Given the description of an element on the screen output the (x, y) to click on. 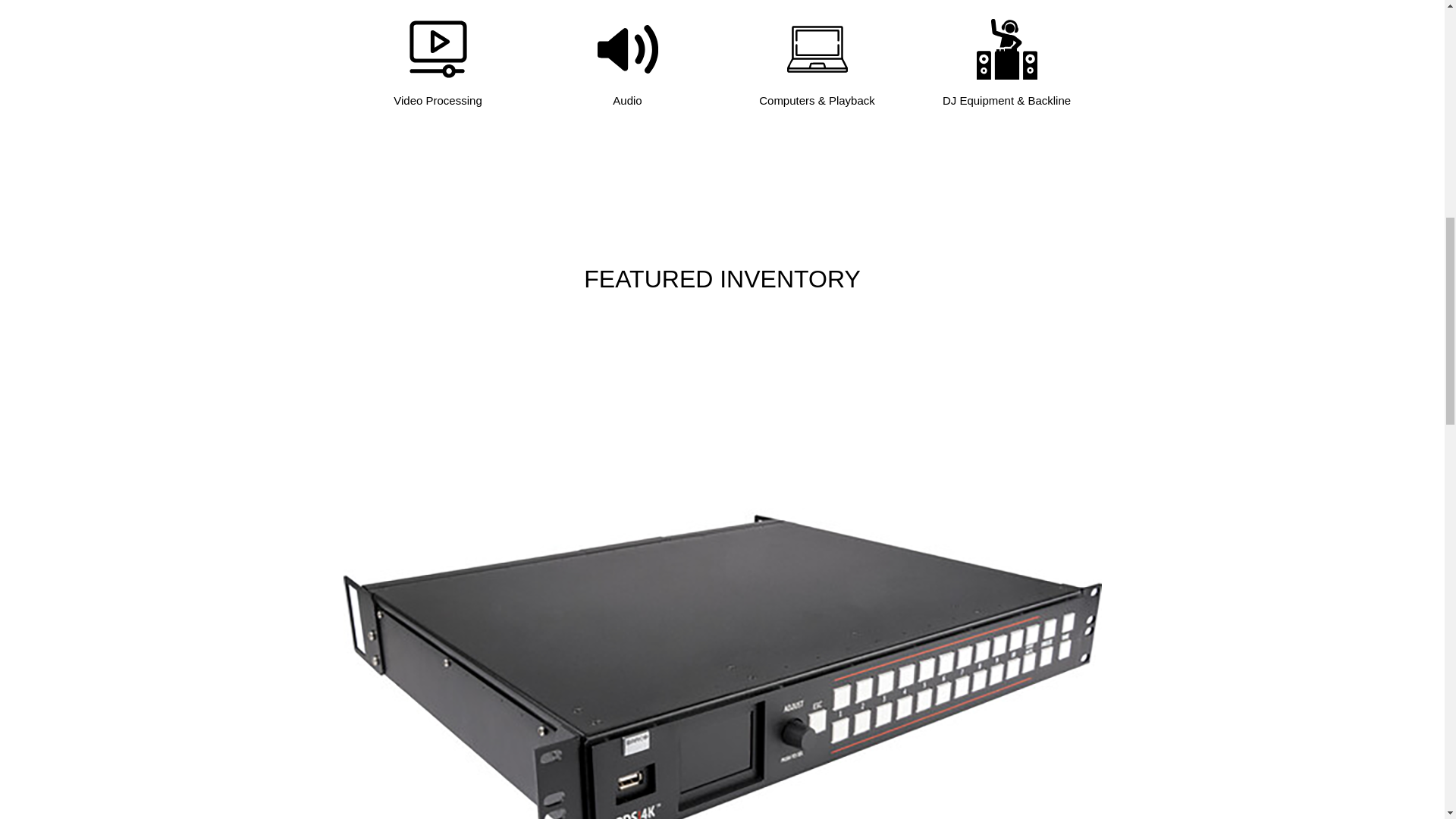
Audio (627, 101)
Video Processing (437, 101)
